Given the description of an element on the screen output the (x, y) to click on. 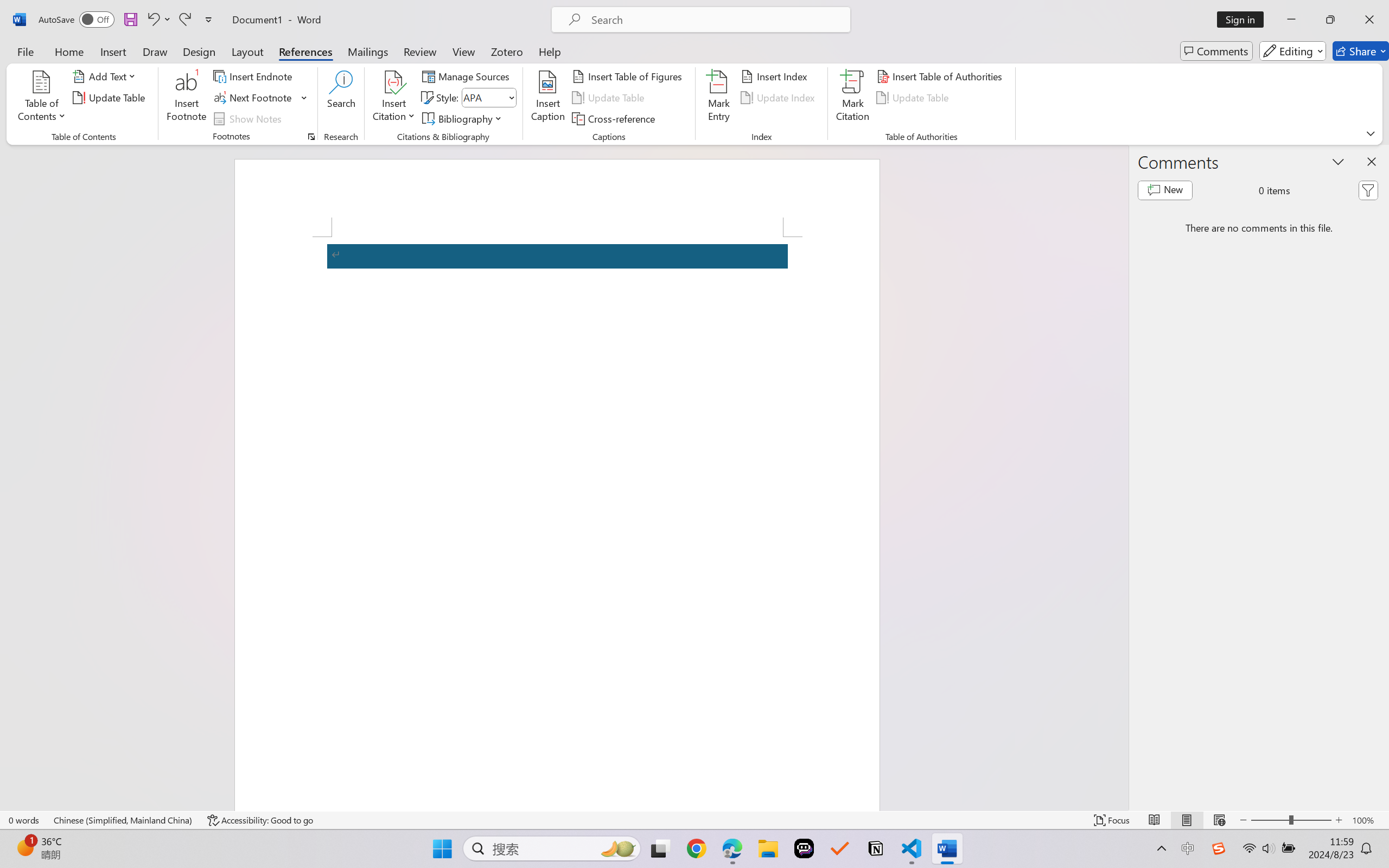
Editing (1292, 50)
Sign in (1244, 19)
Bibliography (463, 118)
Footnote and Endnote Dialog... (311, 136)
